Given the description of an element on the screen output the (x, y) to click on. 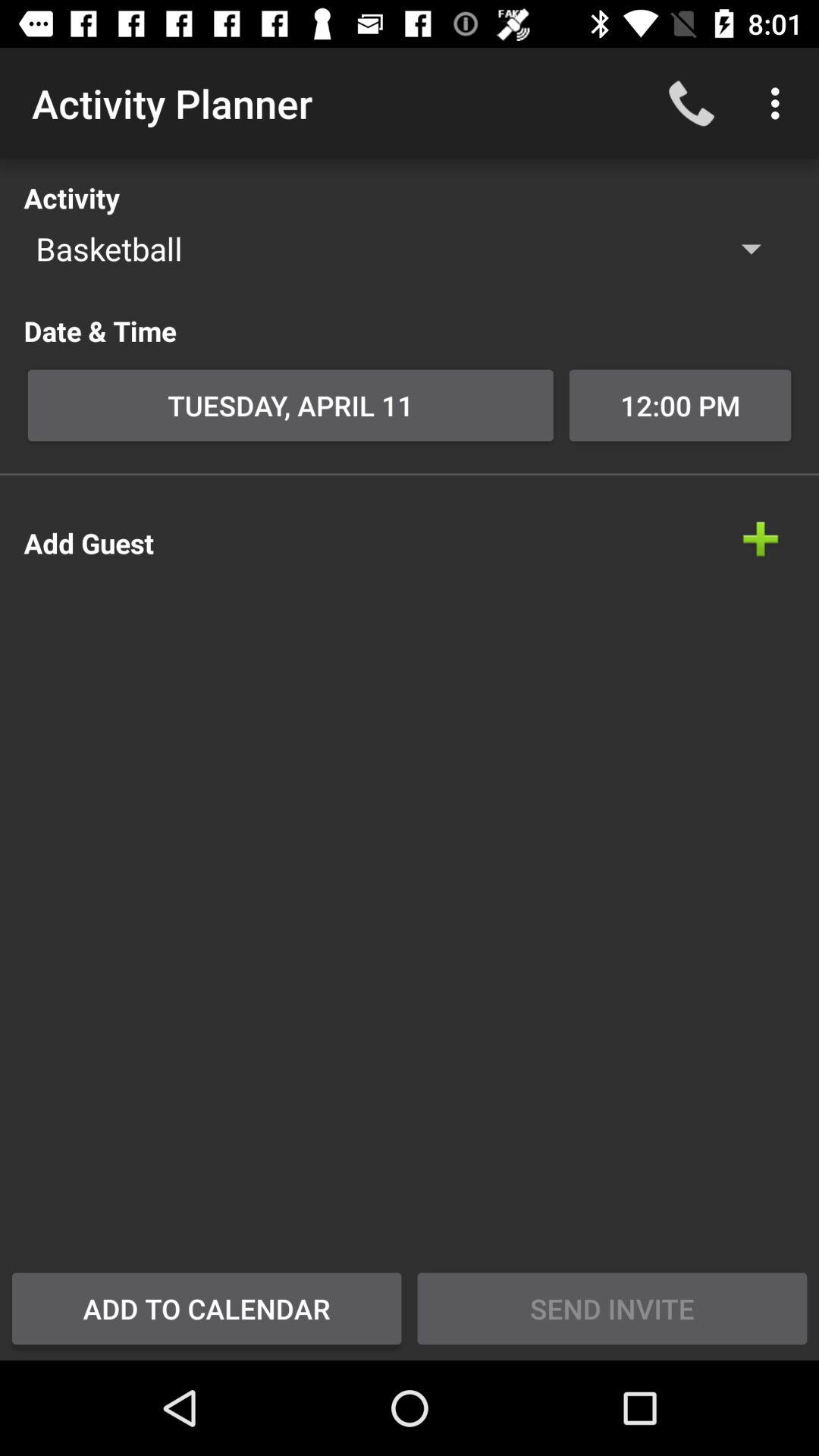
open item next to the activity planner app (691, 103)
